Given the description of an element on the screen output the (x, y) to click on. 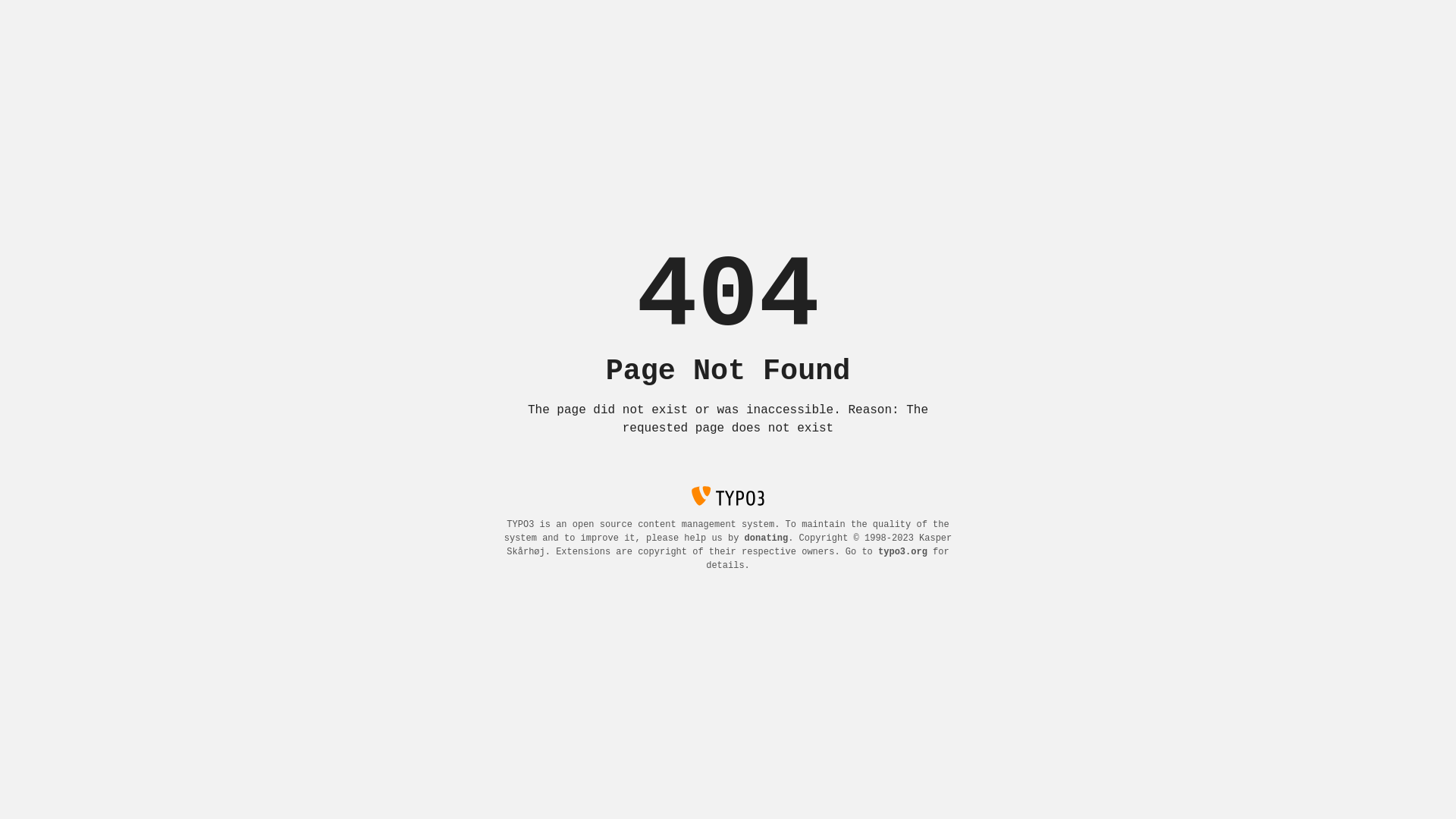
donating Element type: text (766, 538)
typo3.org Element type: text (902, 551)
